Given the description of an element on the screen output the (x, y) to click on. 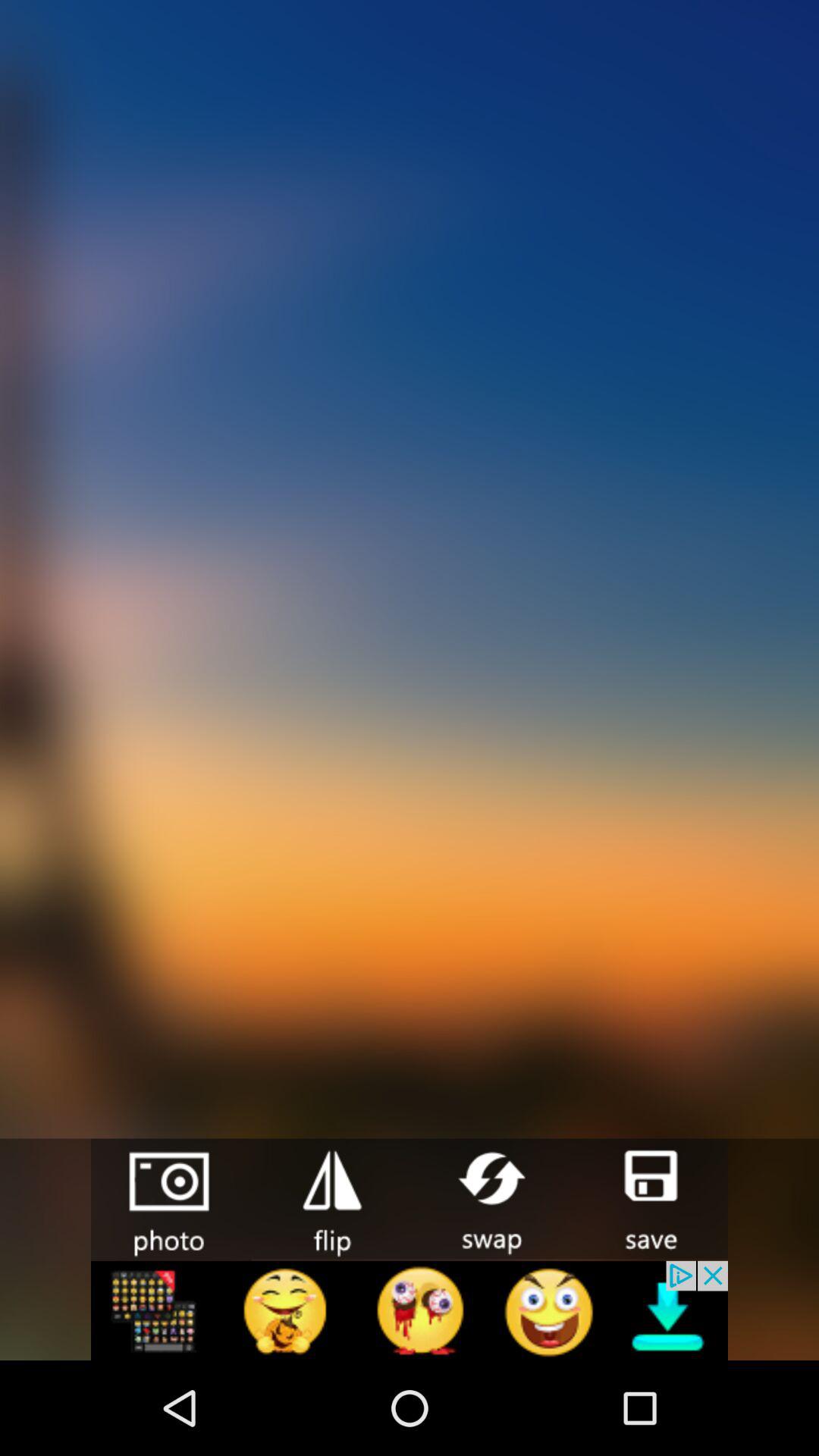
save image/file (648, 1198)
